Given the description of an element on the screen output the (x, y) to click on. 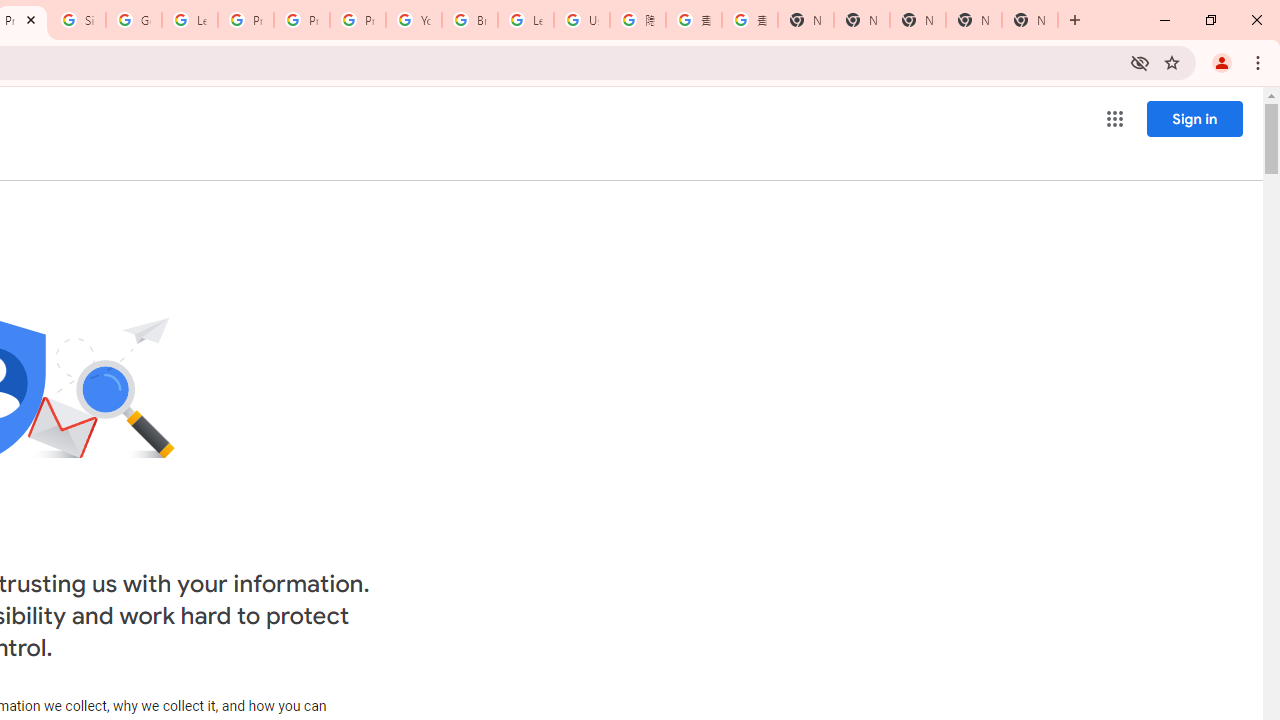
New Tab (1030, 20)
New Tab (806, 20)
Privacy Help Center - Policies Help (245, 20)
